Given the description of an element on the screen output the (x, y) to click on. 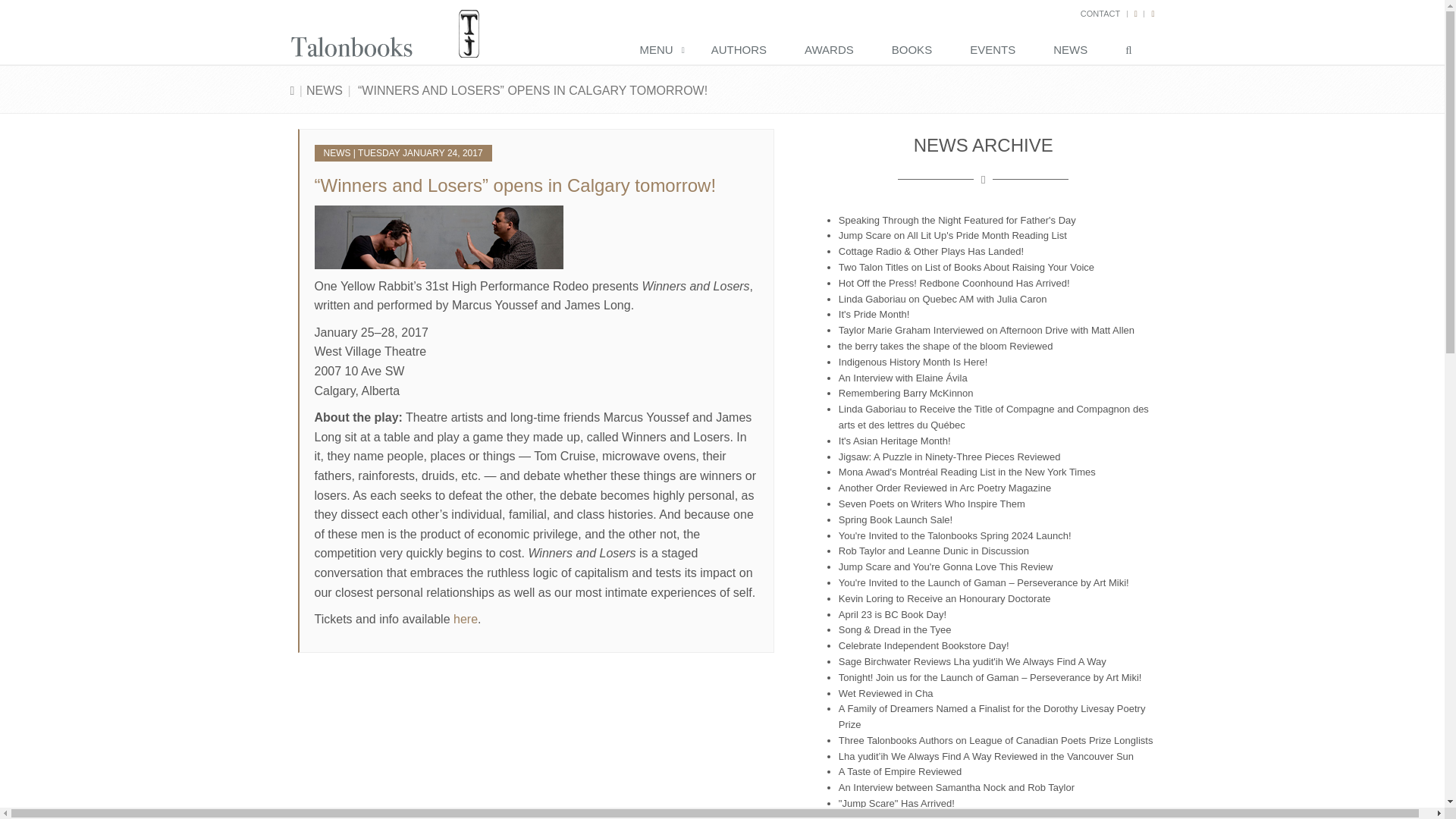
BOOKS (915, 51)
MENU (659, 51)
EVENTS (996, 51)
CONTACT (1099, 13)
NEWS (1073, 51)
AWARDS (832, 51)
here (464, 618)
NEWS (323, 90)
AUTHORS (742, 51)
